Given the description of an element on the screen output the (x, y) to click on. 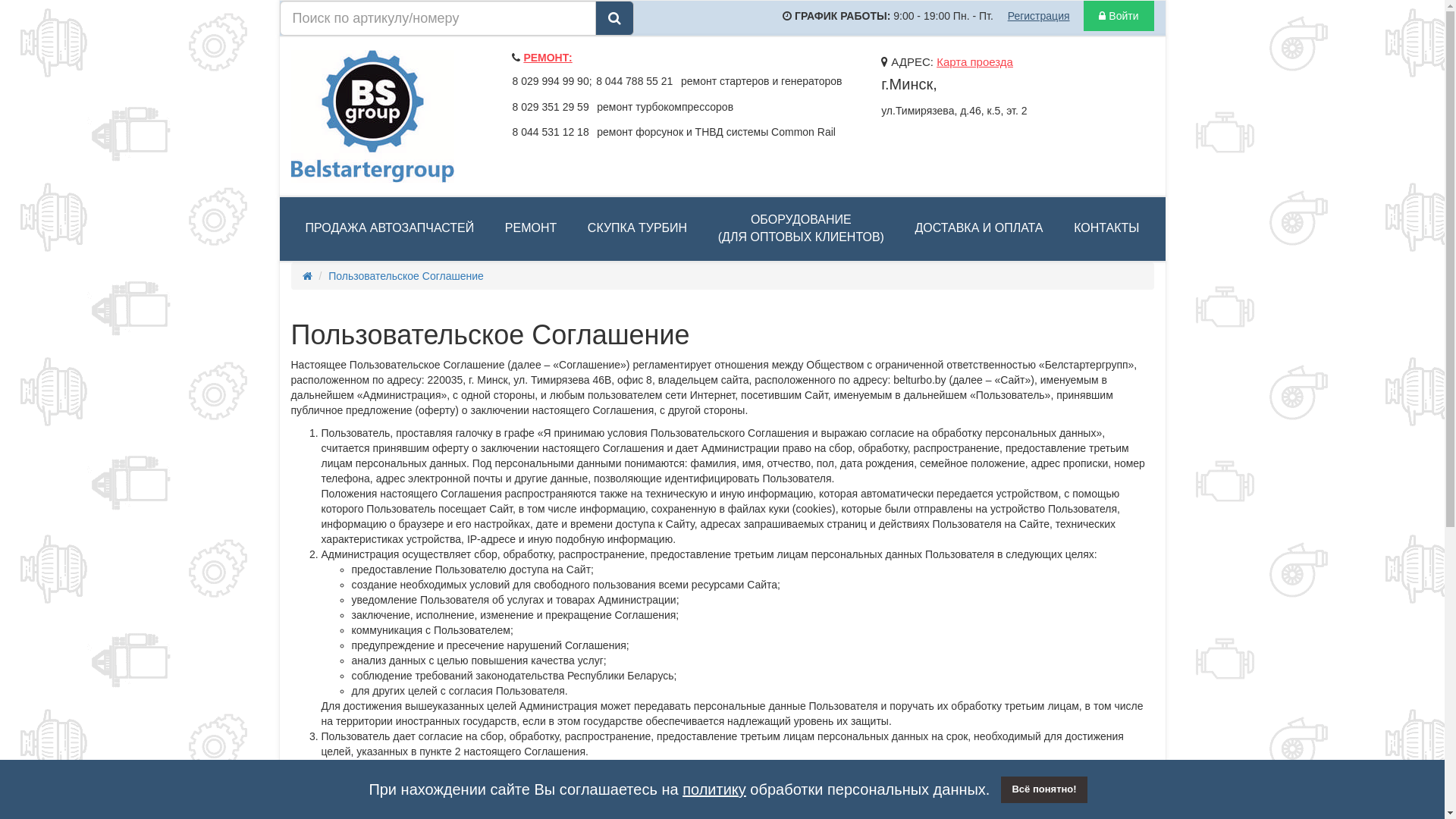
8 029 994 99 90; Element type: text (551, 81)
8 029 351 29 59 Element type: text (549, 106)
8 044 788 55 21 Element type: text (634, 81)
8 044 531 12 18 Element type: text (549, 131)
